Given the description of an element on the screen output the (x, y) to click on. 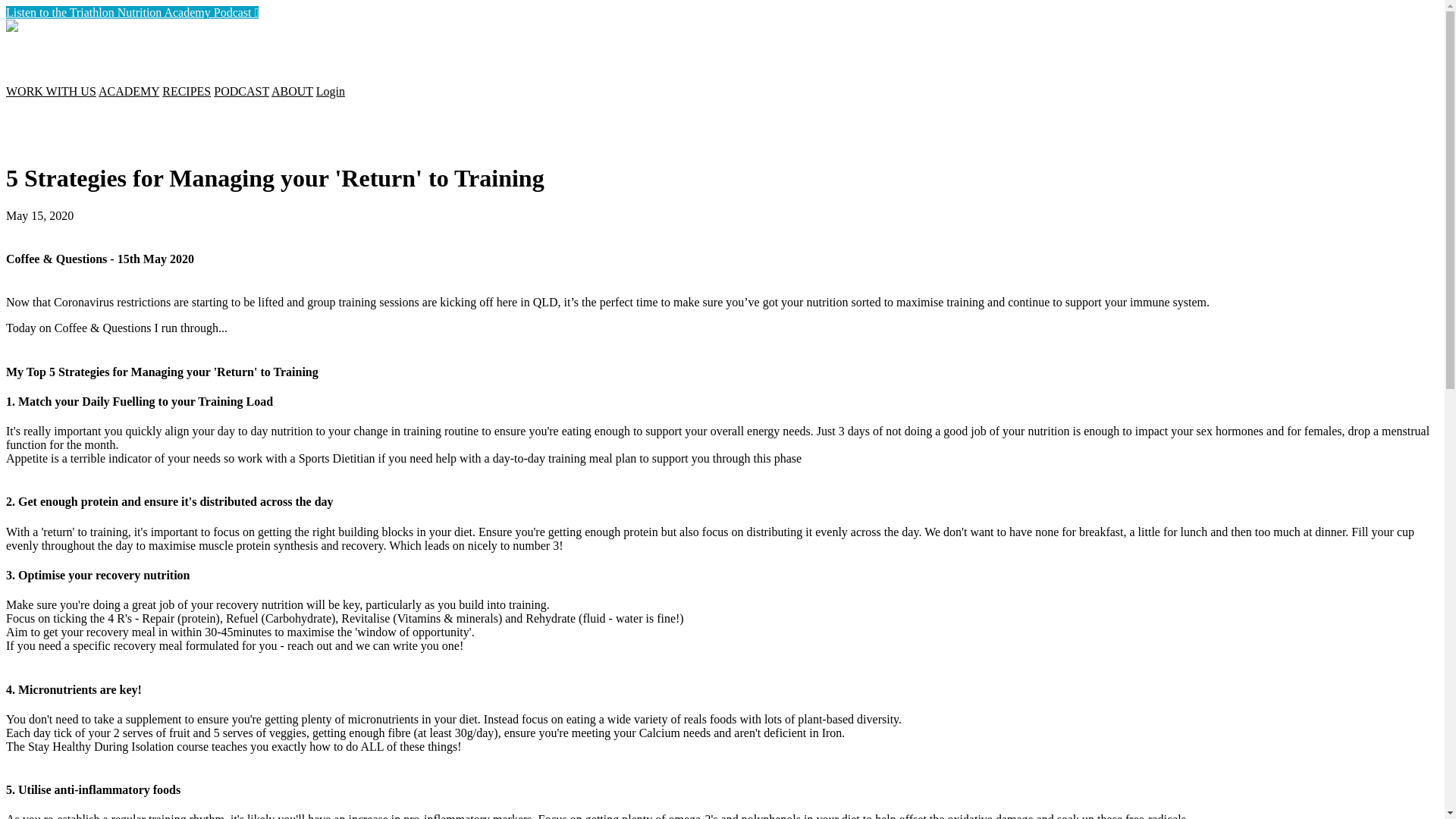
RECIPES Element type: text (186, 90)
ACADEMY Element type: text (128, 90)
Login Element type: text (330, 90)
PODCAST Element type: text (241, 90)
WORK WITH US Element type: text (51, 90)
ABOUT Element type: text (292, 90)
